Given the description of an element on the screen output the (x, y) to click on. 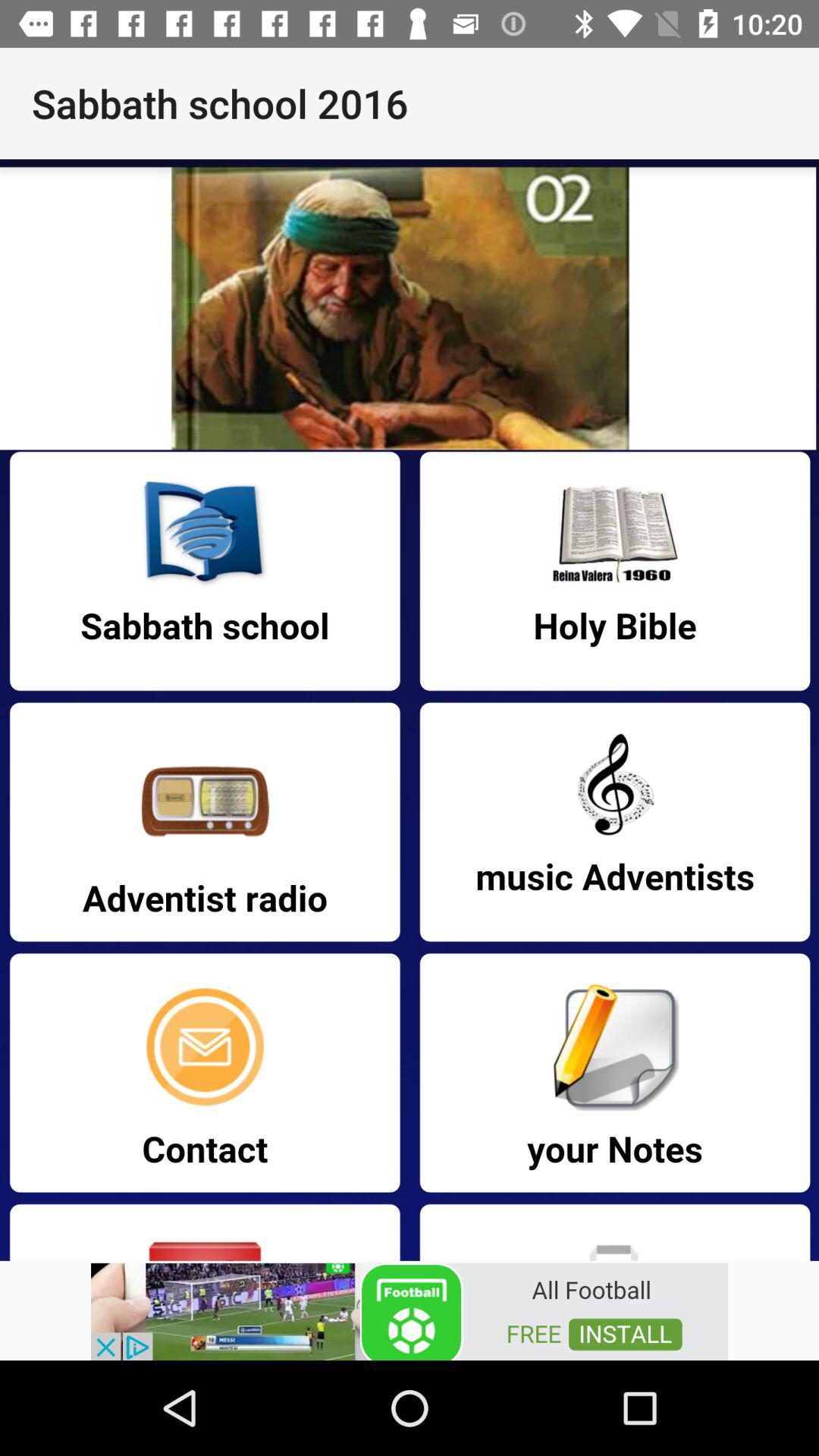
add option (409, 1310)
